Given the description of an element on the screen output the (x, y) to click on. 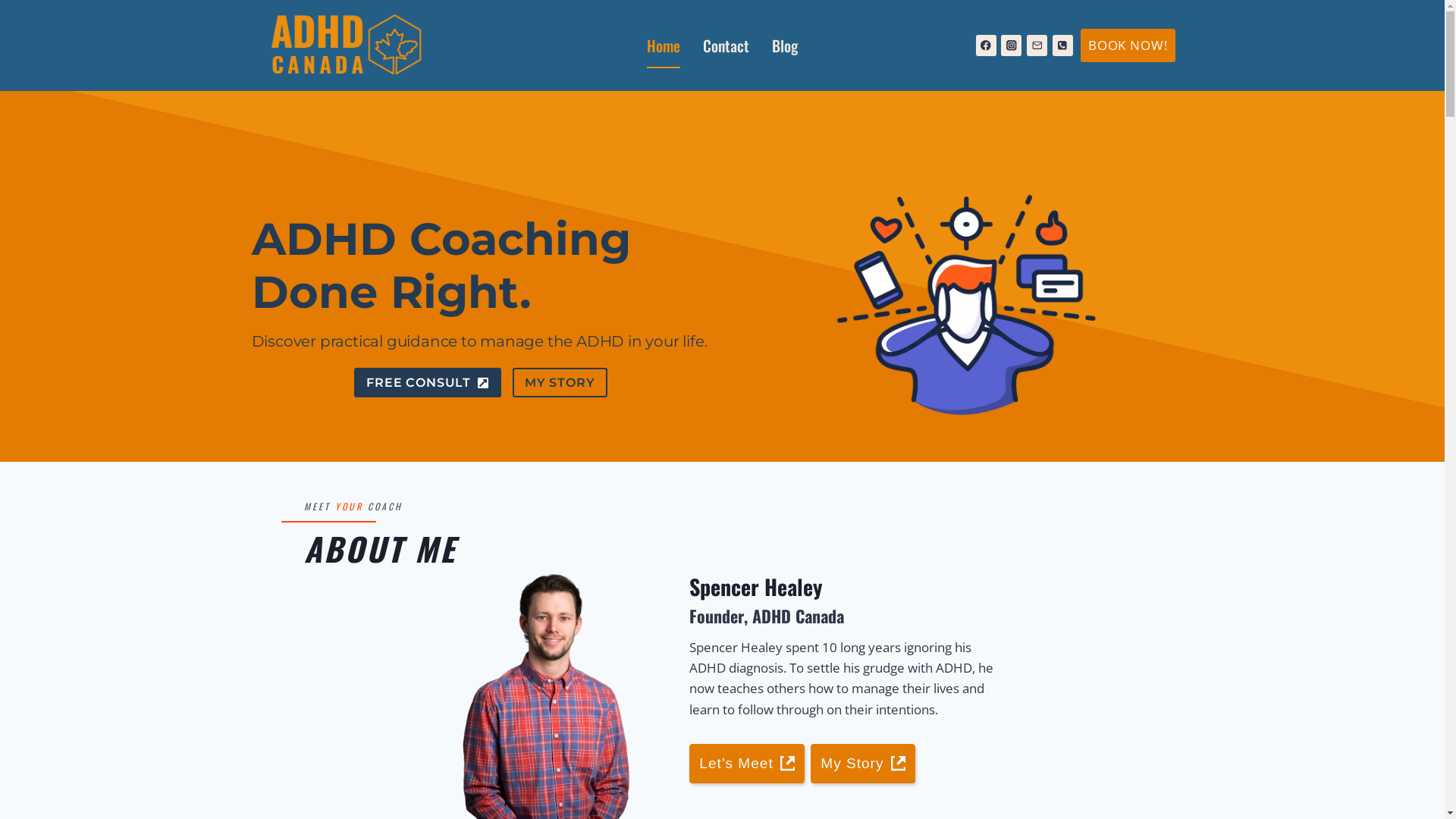
Contact Element type: text (725, 45)
Blog Element type: text (784, 45)
FREE CONSULT Element type: text (427, 381)
My Story Element type: text (862, 763)
Home Element type: text (663, 45)
MY STORY Element type: text (559, 381)
BOOK NOW! Element type: text (1127, 44)
